Given the description of an element on the screen output the (x, y) to click on. 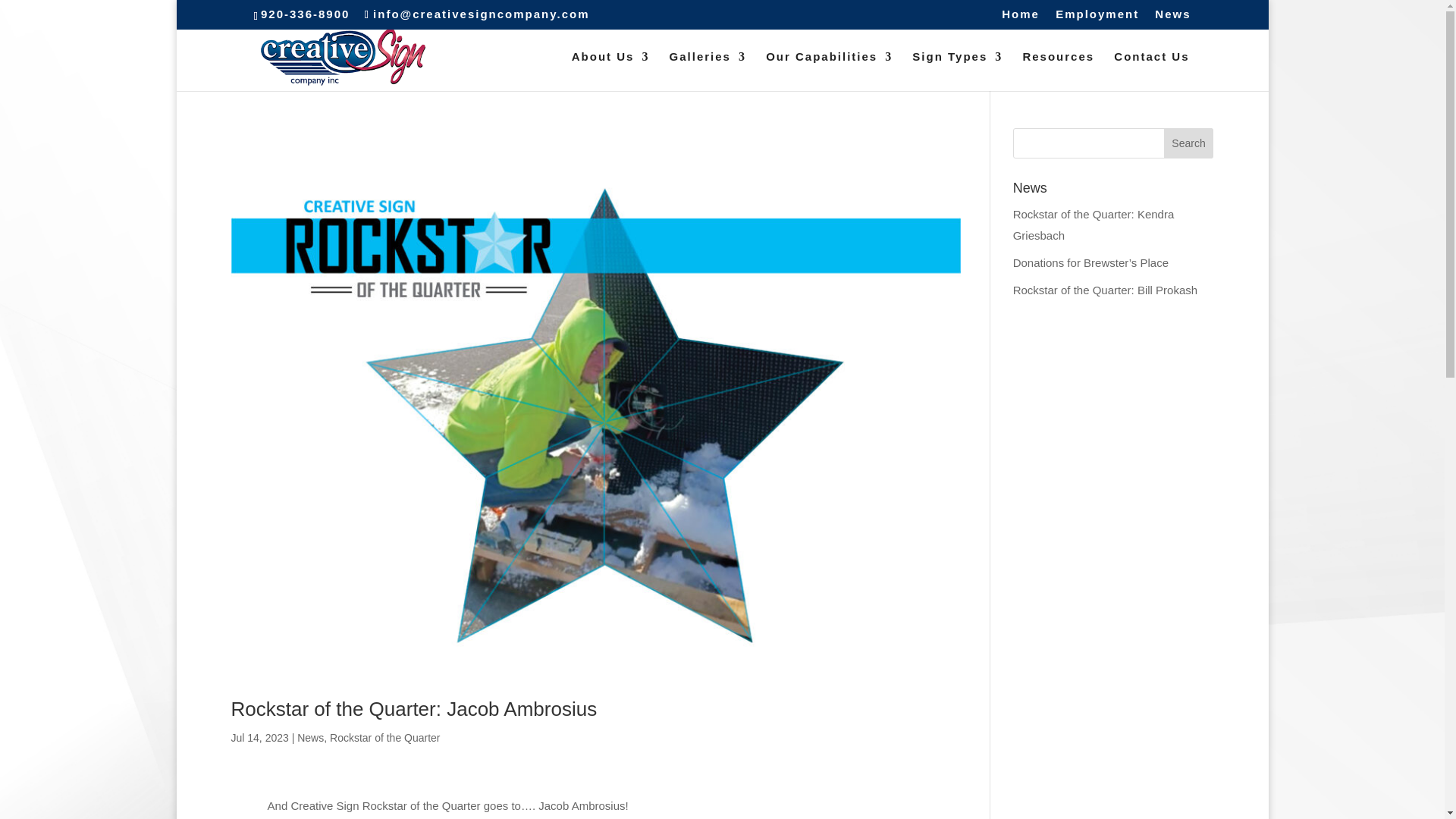
Home (1020, 17)
Galleries (707, 70)
About Us (610, 70)
Employment (1096, 17)
Search (1188, 142)
News (1172, 17)
